Given the description of an element on the screen output the (x, y) to click on. 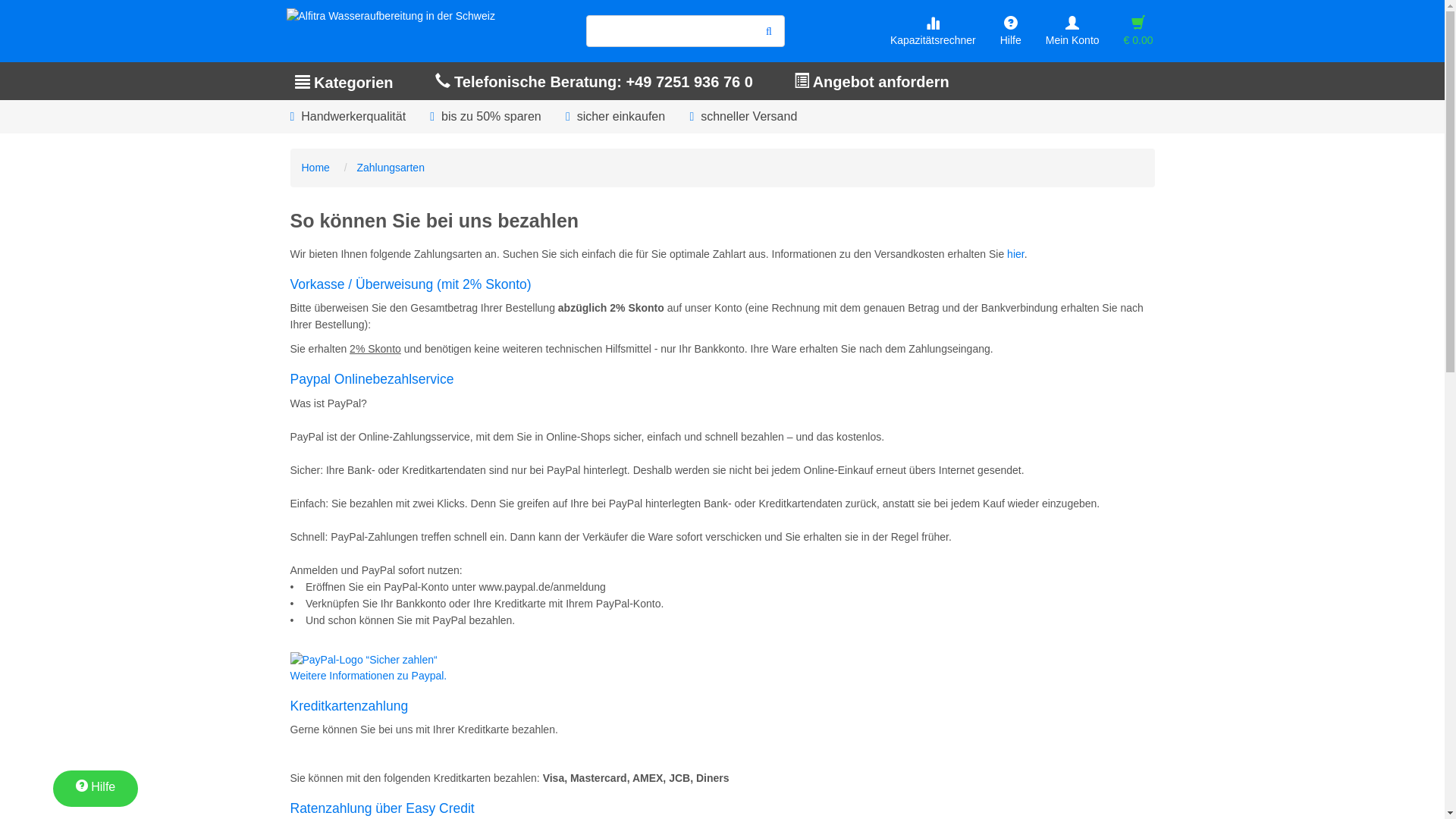
hier Element type: text (1015, 253)
  schneller Versand Element type: text (744, 115)
Kreditkartenzahlung Element type: text (348, 705)
  sicher einkaufen Element type: text (616, 115)
Weitere Informationen zu Paypal. Element type: text (367, 675)
Alfitra Wasseraufbereitung in der Schweiz Element type: hover (387, 15)
Home Element type: text (315, 167)
Angebot anfordern Element type: text (871, 81)
Suche Element type: hover (768, 30)
Hilfe Element type: text (95, 788)
Telefonische Beratung: +49 7251 936 76 0 Element type: text (594, 81)
Kategorien Element type: text (344, 81)
Mein Konto Element type: text (1072, 31)
Paypal Onlinebezahlservice Element type: text (371, 378)
  bis zu 50% sparen Element type: text (486, 115)
Hilfe Element type: text (1010, 31)
Zahlungsarten Element type: text (390, 167)
